Given the description of an element on the screen output the (x, y) to click on. 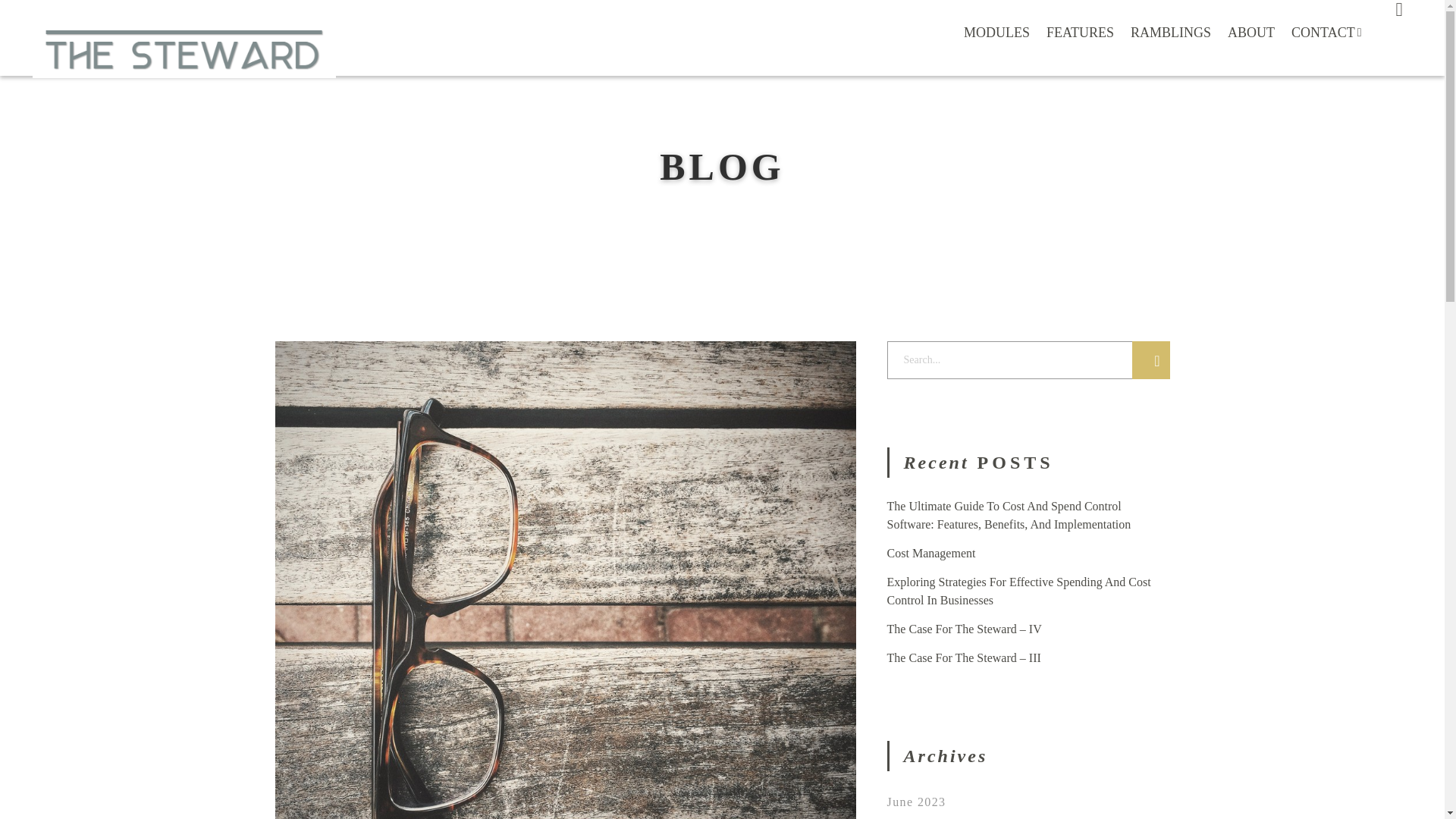
Cost Management (930, 553)
ABOUT (1251, 33)
MODULES (996, 33)
RAMBLINGS (1171, 33)
FEATURES (1079, 33)
MORE FROM LESERIES (721, 746)
June 2023 (916, 801)
CONTACT (1326, 44)
